Given the description of an element on the screen output the (x, y) to click on. 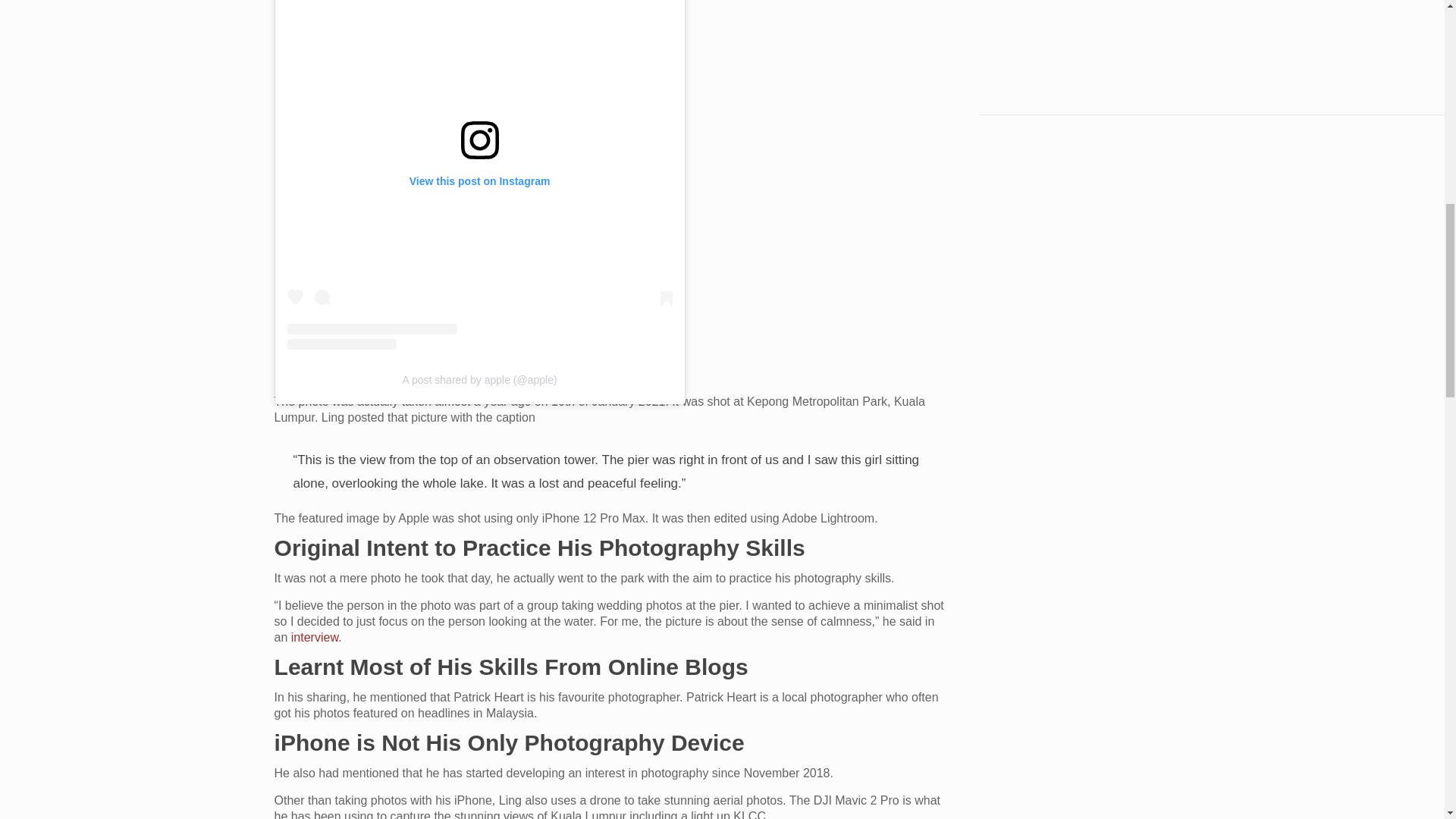
YouTube video player (1074, 38)
interview (314, 636)
